Given the description of an element on the screen output the (x, y) to click on. 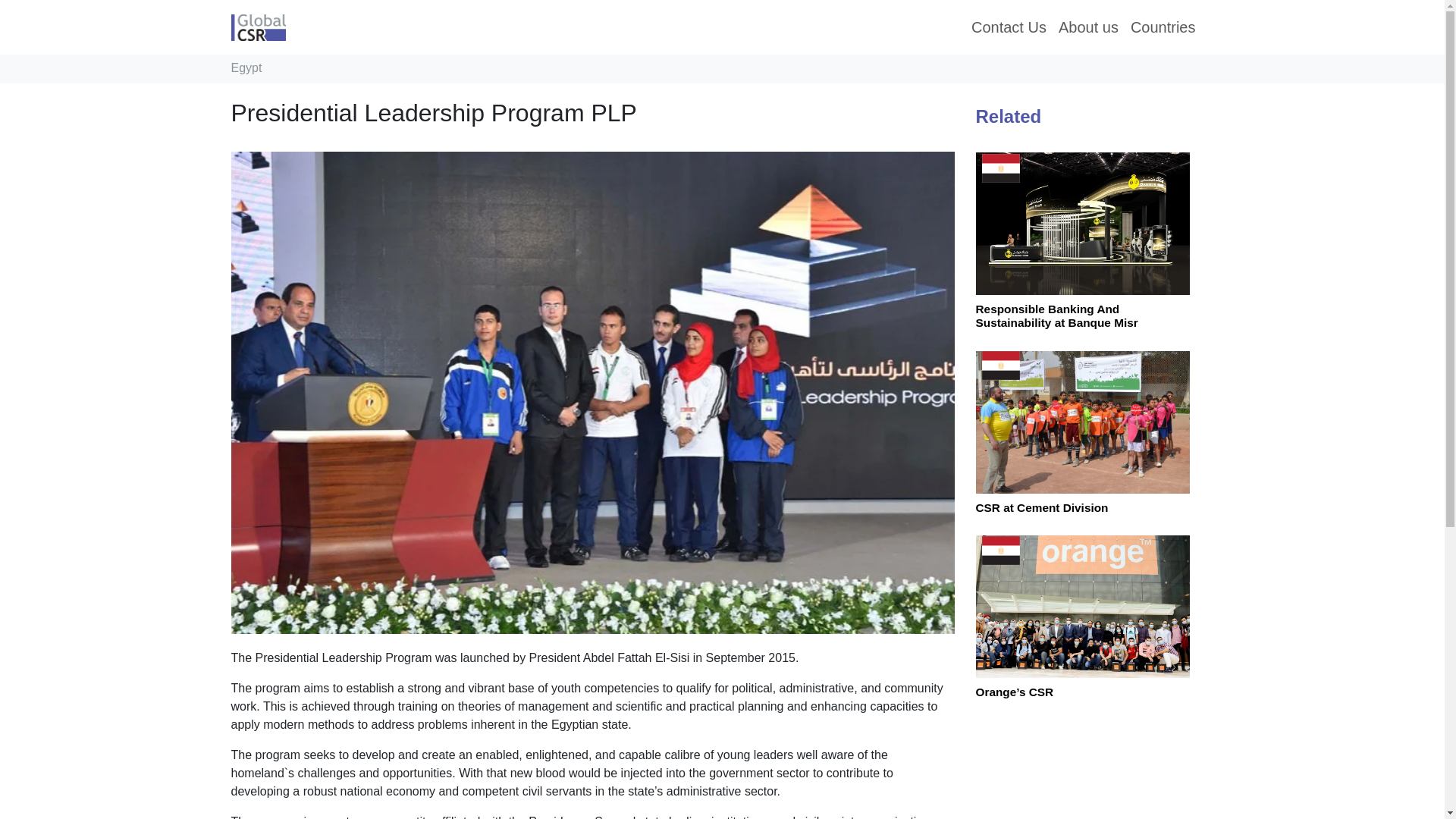
Contact Us (1008, 27)
About us (1088, 27)
Countries (1163, 27)
Egypt (246, 67)
